Given the description of an element on the screen output the (x, y) to click on. 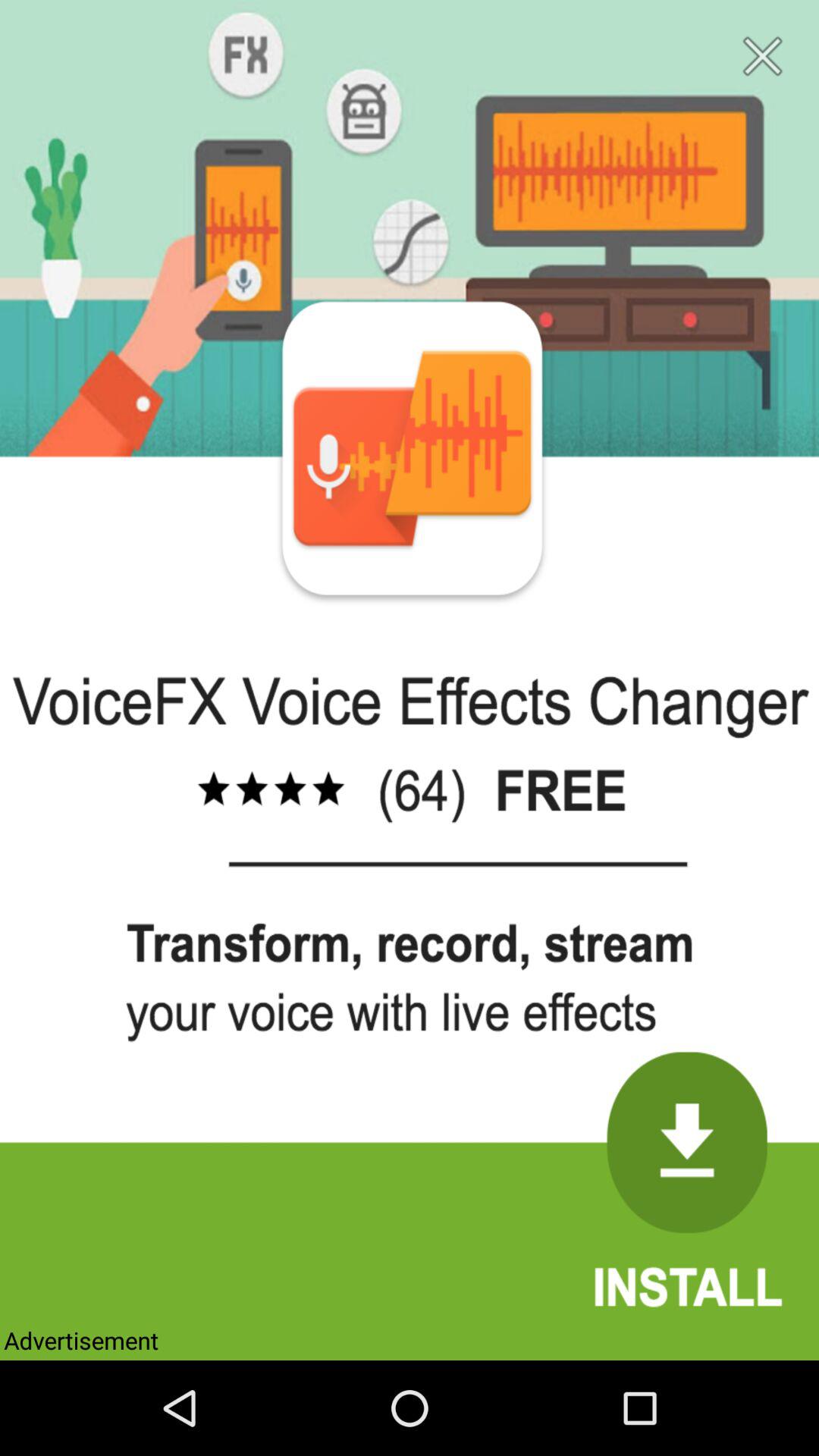
go to close (762, 56)
